Given the description of an element on the screen output the (x, y) to click on. 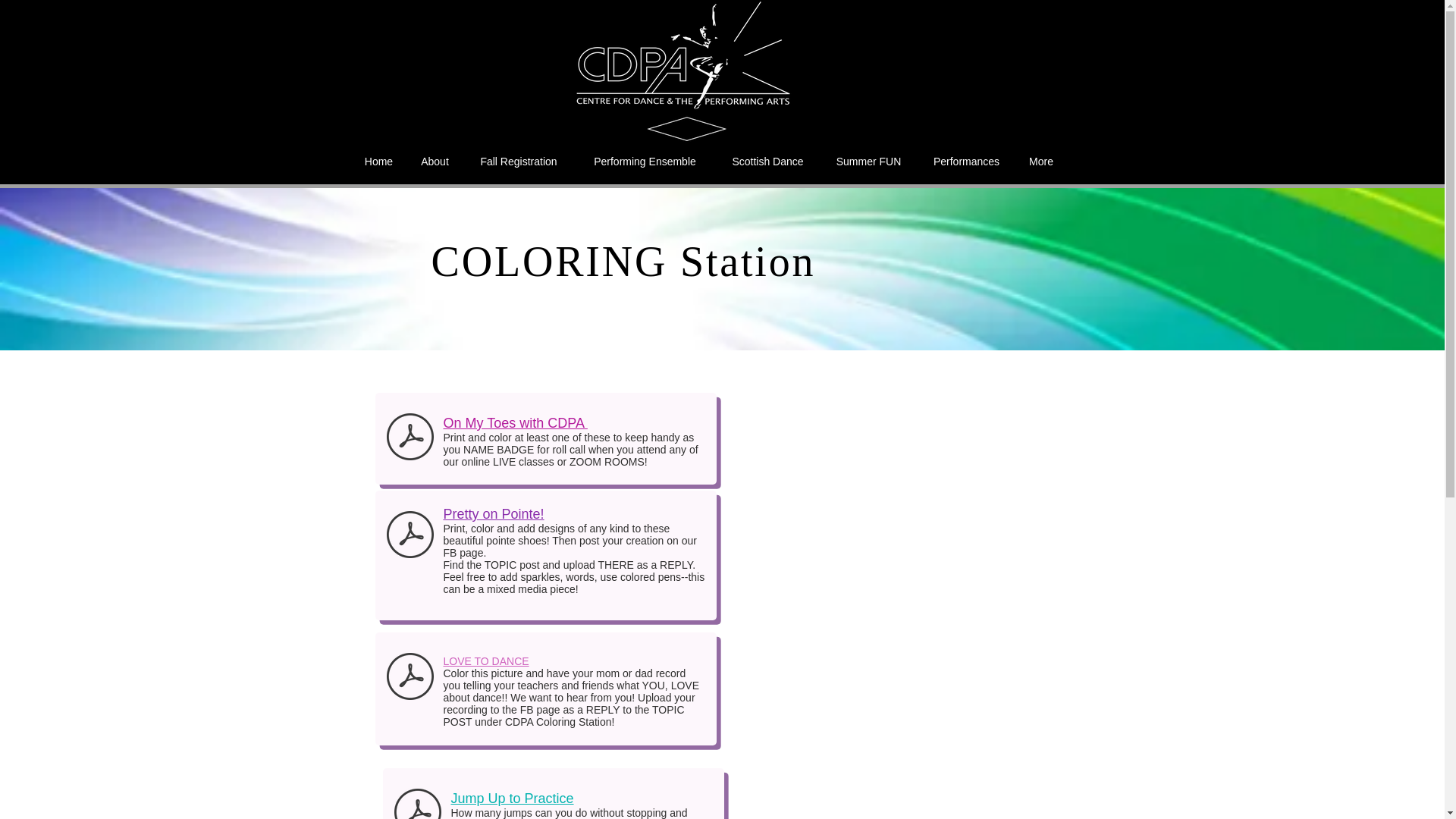
Summer FUN (869, 161)
On My Toes with CDPA  (514, 422)
on my toes with CDPA.pdf (408, 437)
Fall Registration (518, 161)
Home (378, 161)
Scottish Dance (768, 161)
Pretty on Pointe! (492, 513)
LOVE TO DANCE (485, 661)
Performing Ensemble (645, 161)
I CAN DANCE SUMMER COLOR.pdf (408, 677)
